Given the description of an element on the screen output the (x, y) to click on. 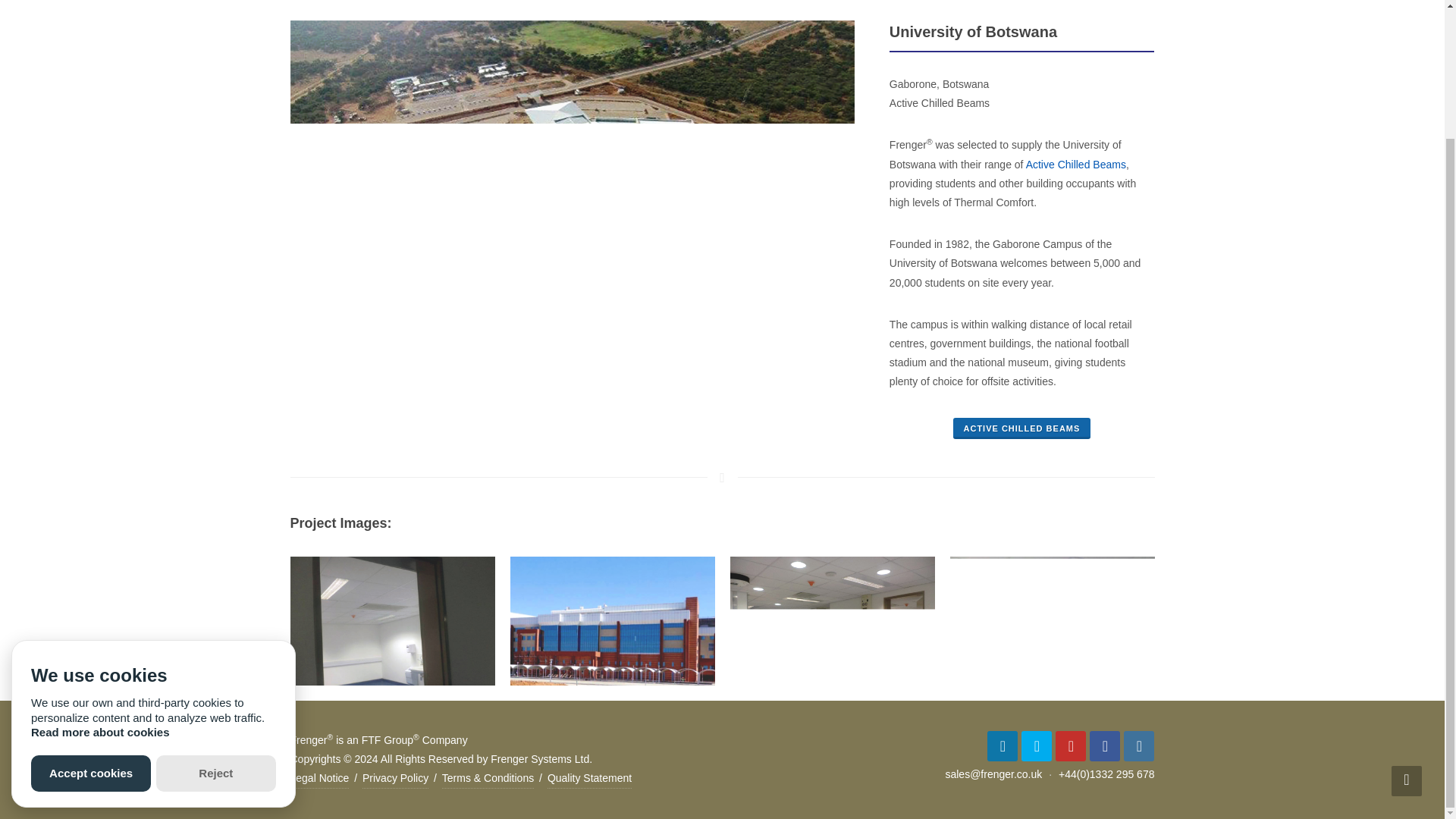
LinkedIn Icon (1002, 746)
YouTube Icon (1070, 746)
Instagram Icon (1139, 746)
FaceBook Icon (1104, 746)
Twitter Icon (1036, 746)
